Given the description of an element on the screen output the (x, y) to click on. 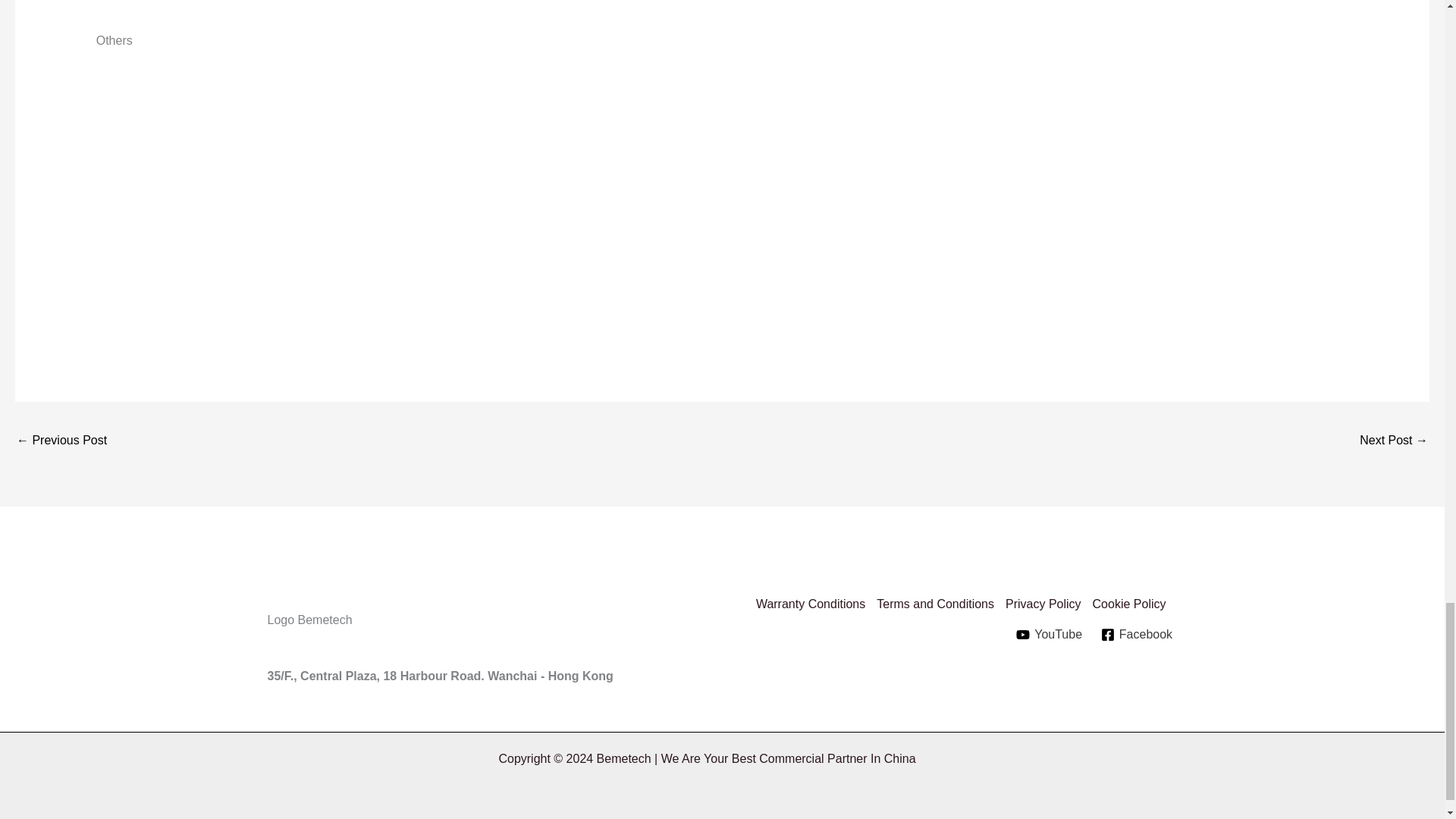
Cookie Policy (1135, 603)
Steel and Other Industrial Metals (1393, 441)
Facebook (1136, 634)
Solar Energy in Daily Life (61, 441)
Terms and Conditions (941, 603)
Warranty Conditions (815, 603)
Privacy Policy (1049, 603)
YouTube (1049, 634)
